Given the description of an element on the screen output the (x, y) to click on. 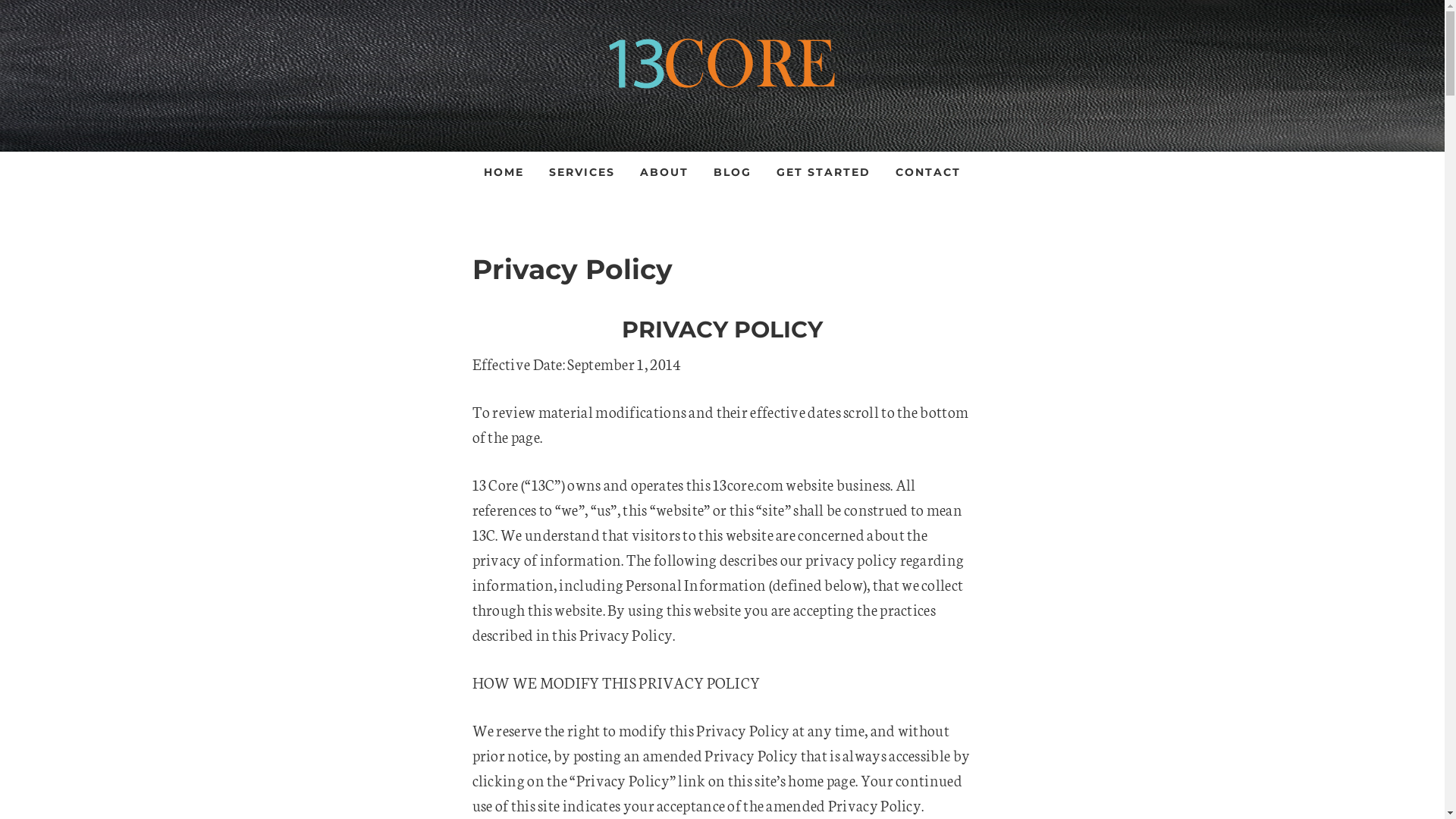
CONTACT Element type: text (928, 171)
GET STARTED Element type: text (823, 171)
ABOUT Element type: text (663, 171)
SERVICES Element type: text (581, 171)
HOME Element type: text (503, 171)
13 CORE Element type: text (721, 60)
BLOG Element type: text (732, 171)
